Given the description of an element on the screen output the (x, y) to click on. 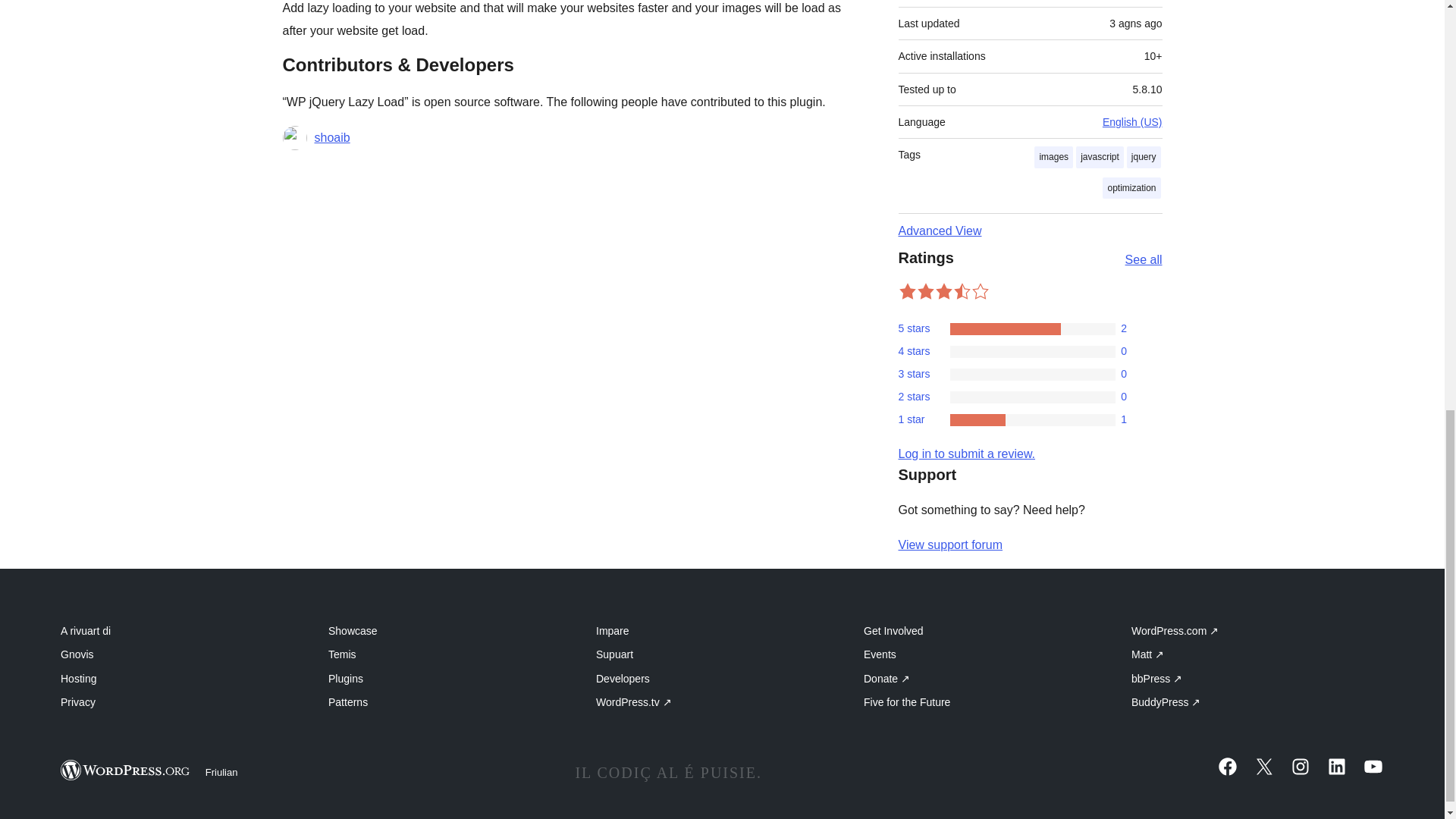
shoaib (331, 137)
Log in to WordPress.org (966, 453)
WordPress.org (125, 770)
